Given the description of an element on the screen output the (x, y) to click on. 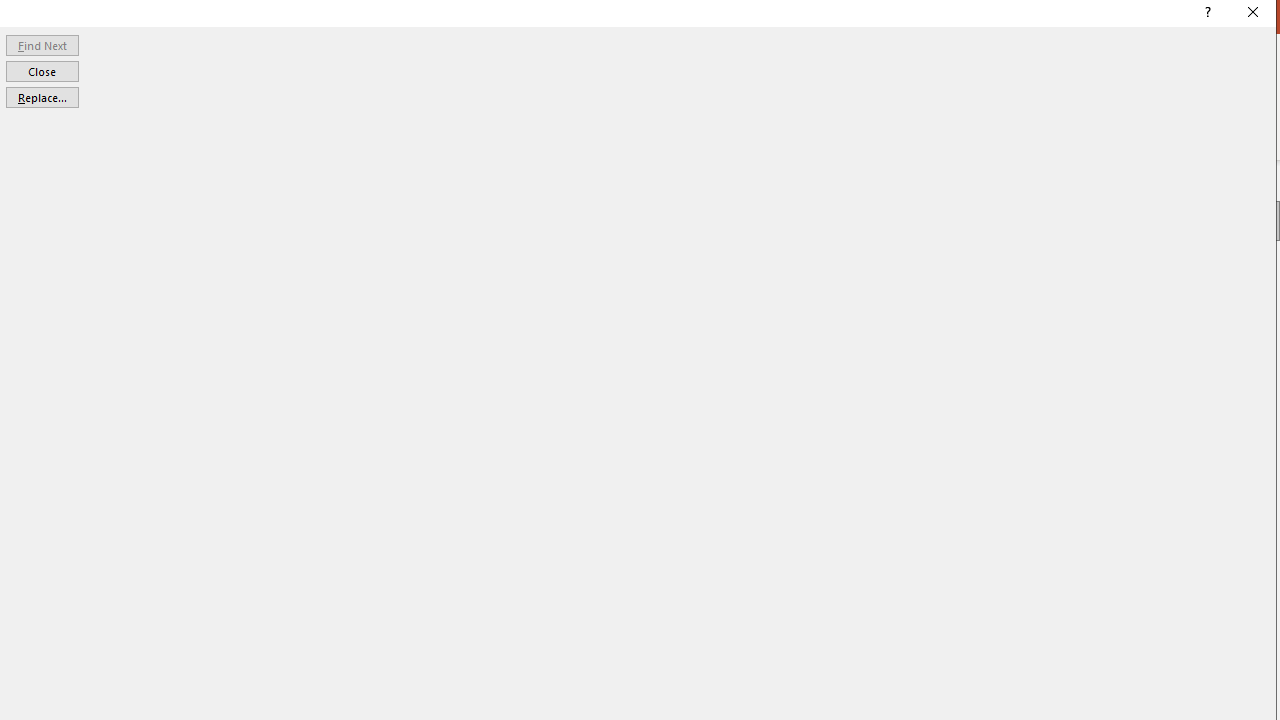
Find Next (42, 44)
